Given the description of an element on the screen output the (x, y) to click on. 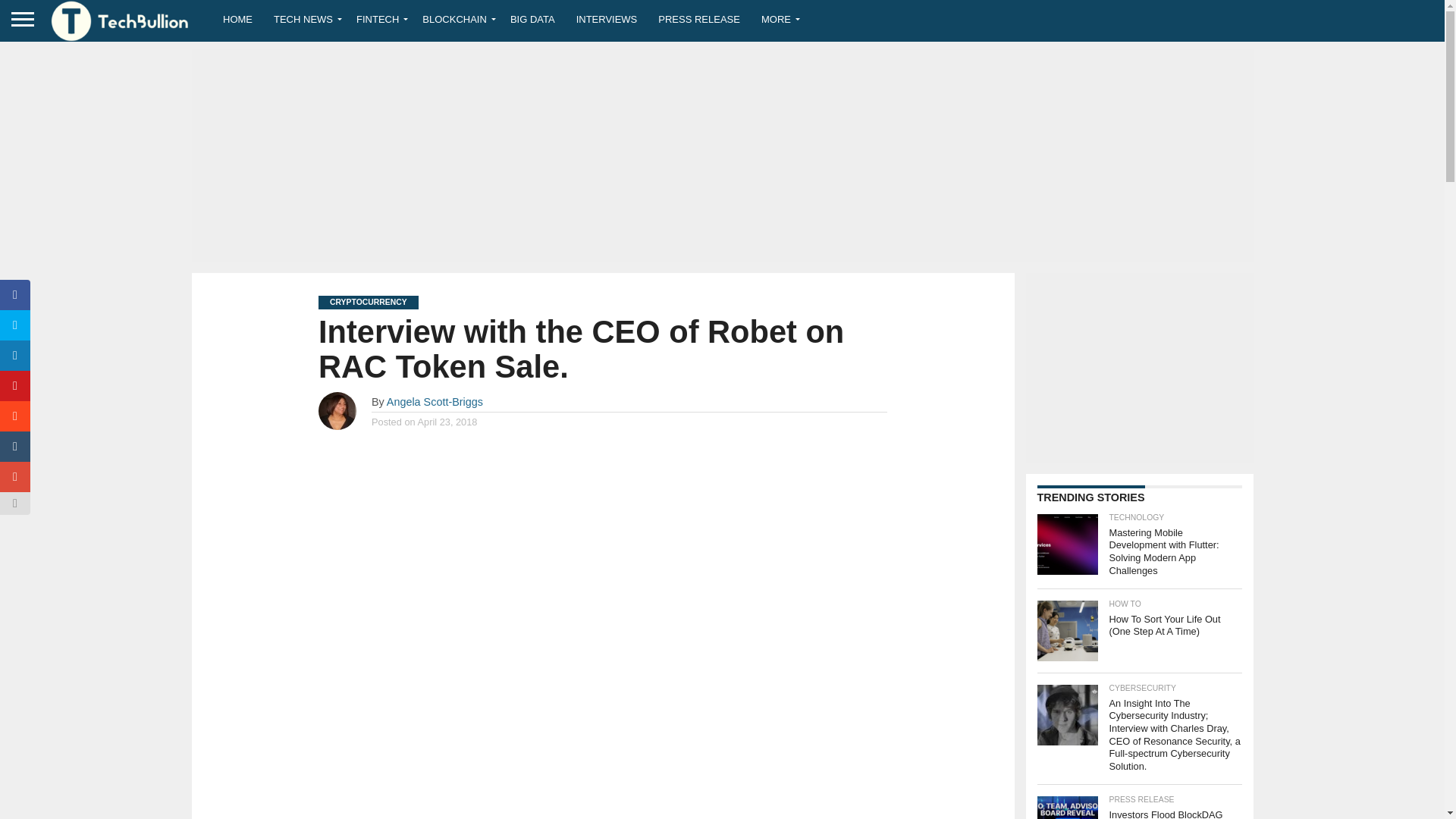
Posts by Angela Scott-Briggs (435, 401)
